Given the description of an element on the screen output the (x, y) to click on. 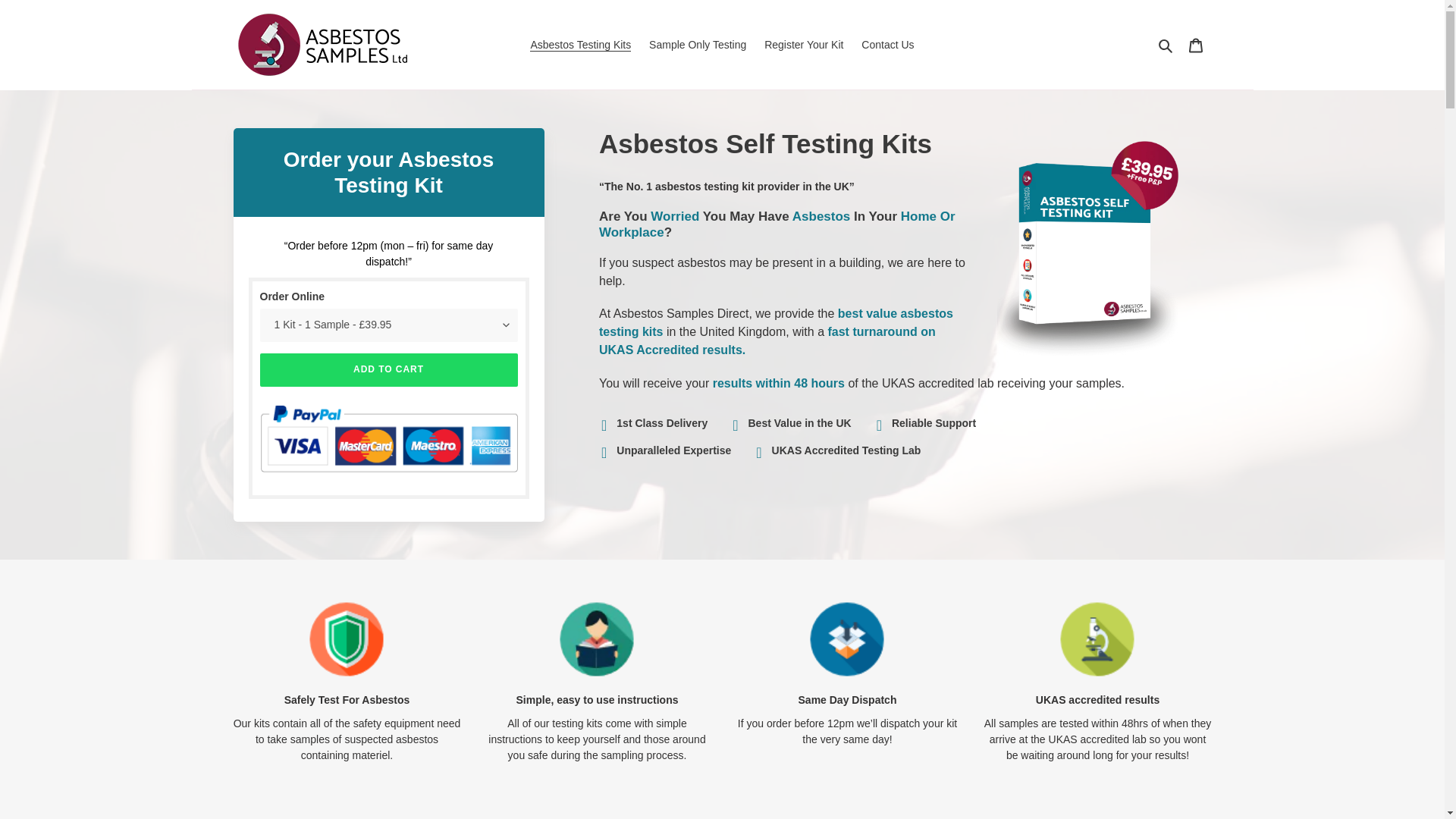
Sample Only Testing (698, 45)
ADD TO CART (389, 369)
Cart (1195, 43)
Register Your Kit (803, 45)
Search (1166, 44)
Asbestos Testing Kits (580, 45)
Contact Us (887, 45)
